Given the description of an element on the screen output the (x, y) to click on. 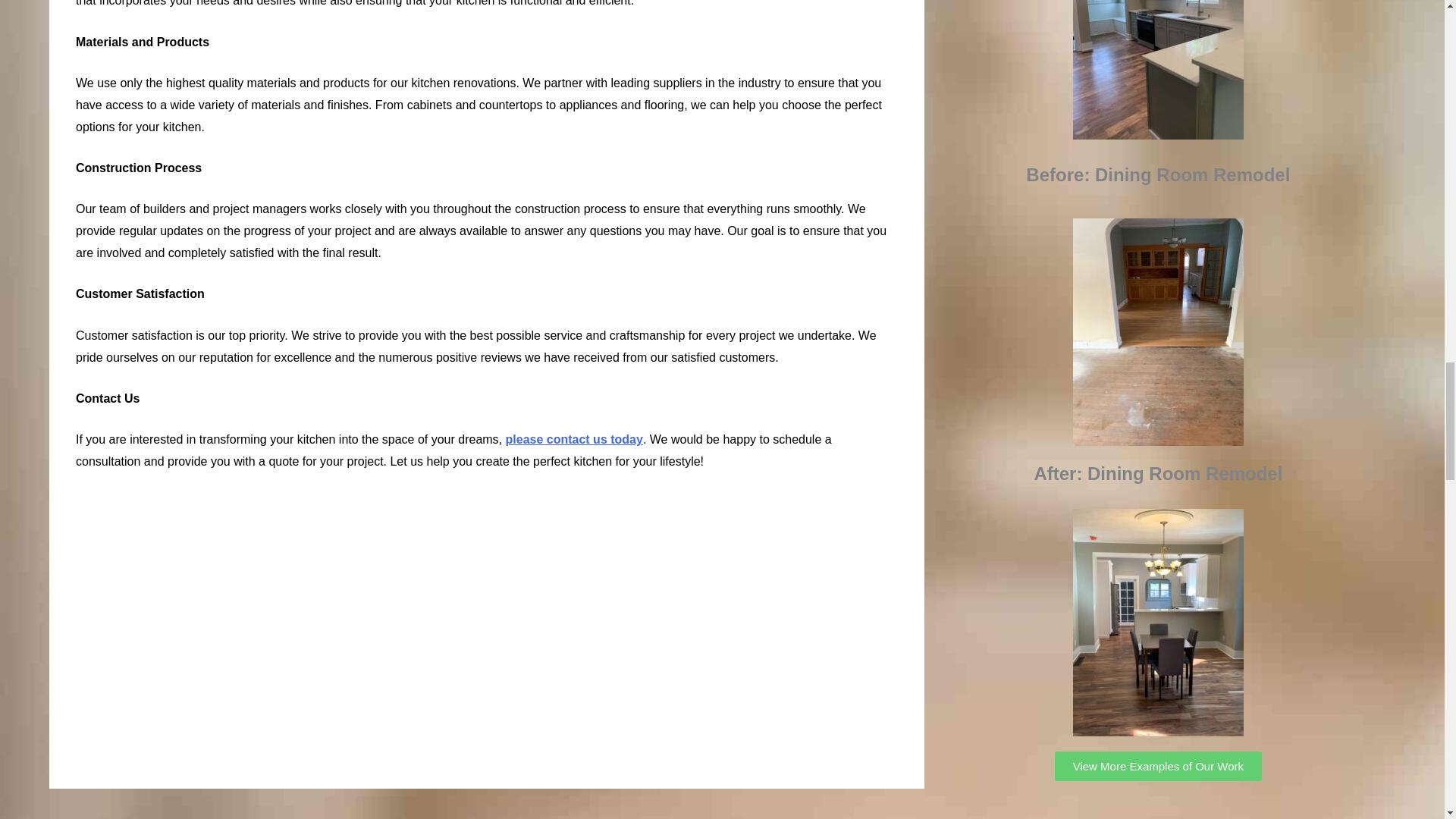
please contact us today (574, 439)
View More Examples of Our Work (1158, 766)
